Given the description of an element on the screen output the (x, y) to click on. 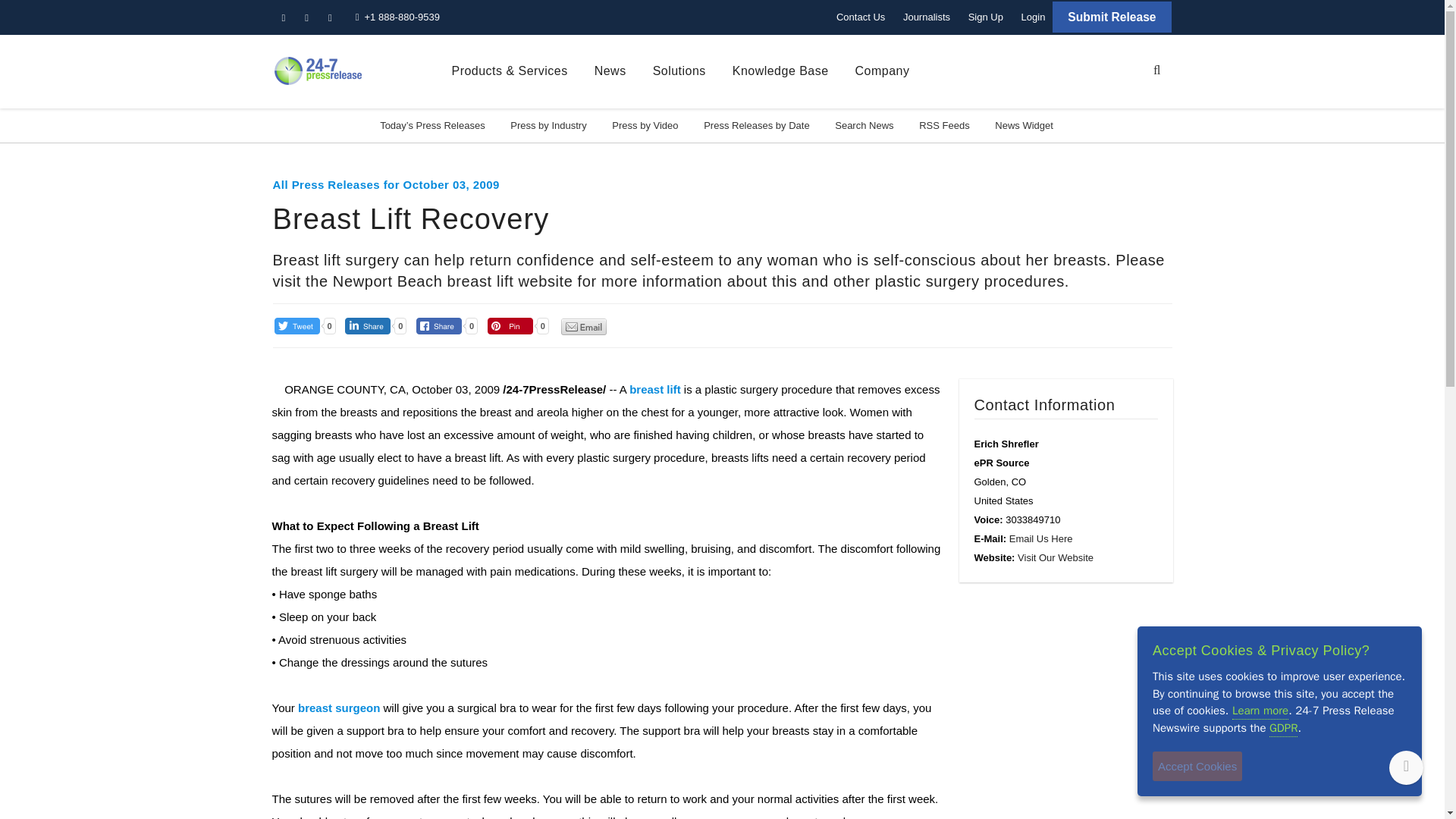
Submit Release (1111, 16)
Login (1032, 16)
Contact Us (860, 16)
Knowledge Base (780, 71)
Sign Up (985, 16)
Solutions (679, 71)
News (610, 71)
Company (882, 71)
Journalists (926, 16)
